Given the description of an element on the screen output the (x, y) to click on. 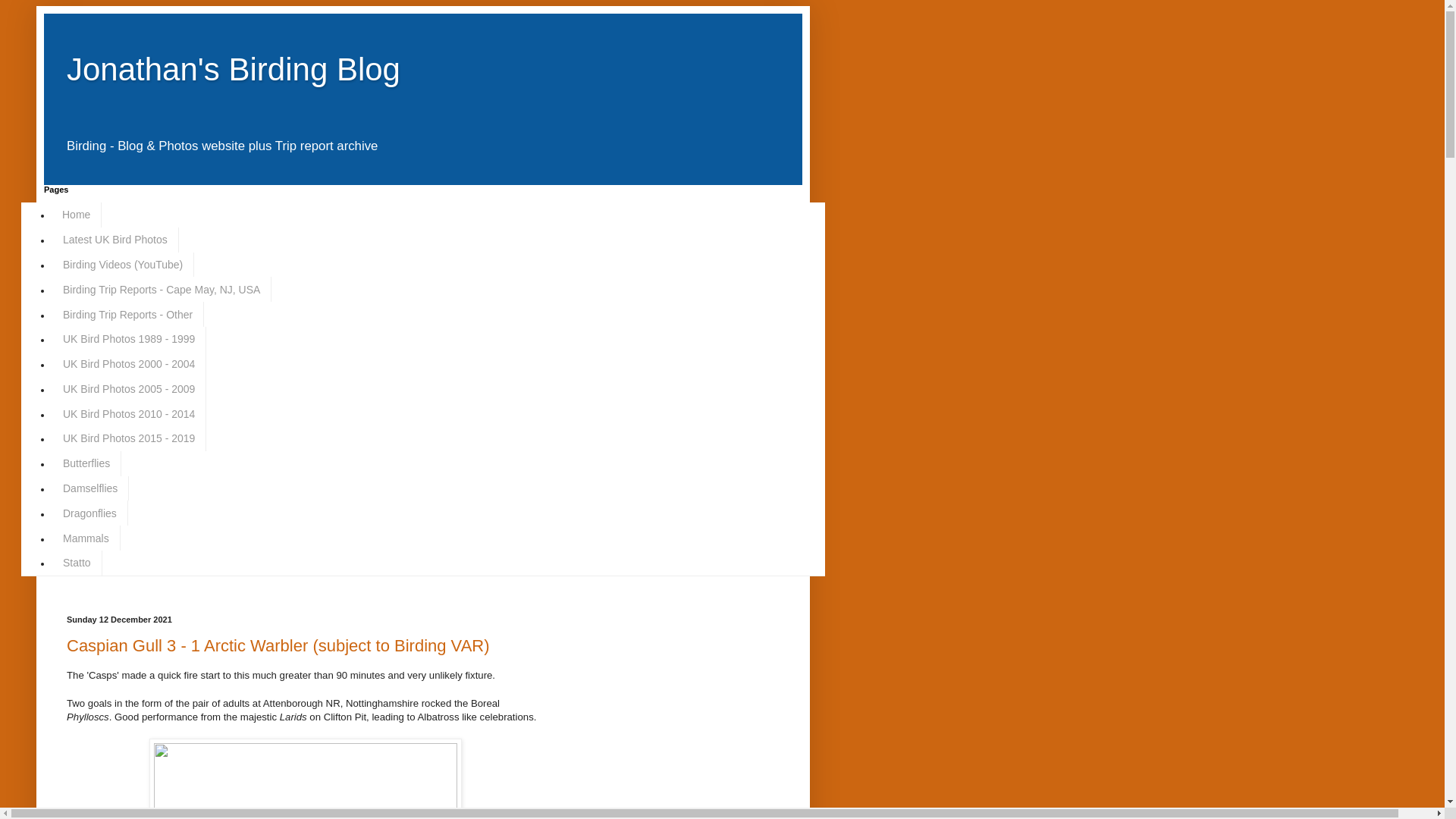
Home (75, 214)
Damselflies (89, 488)
UK Bird Photos 2010 - 2014 (128, 413)
UK Bird Photos 1989 - 1999 (128, 339)
UK Bird Photos 2015 - 2019 (128, 438)
Latest UK Bird Photos (114, 239)
UK Bird Photos 2000 - 2004 (128, 364)
Statto (75, 562)
Birding Trip Reports - Cape May, NJ, USA (160, 289)
Jonathan's Birding Blog (233, 68)
UK Bird Photos 2005 - 2009 (128, 388)
Dragonflies (89, 512)
Birding Trip Reports - Other (126, 314)
Mammals (85, 537)
Butterflies (85, 463)
